Given the description of an element on the screen output the (x, y) to click on. 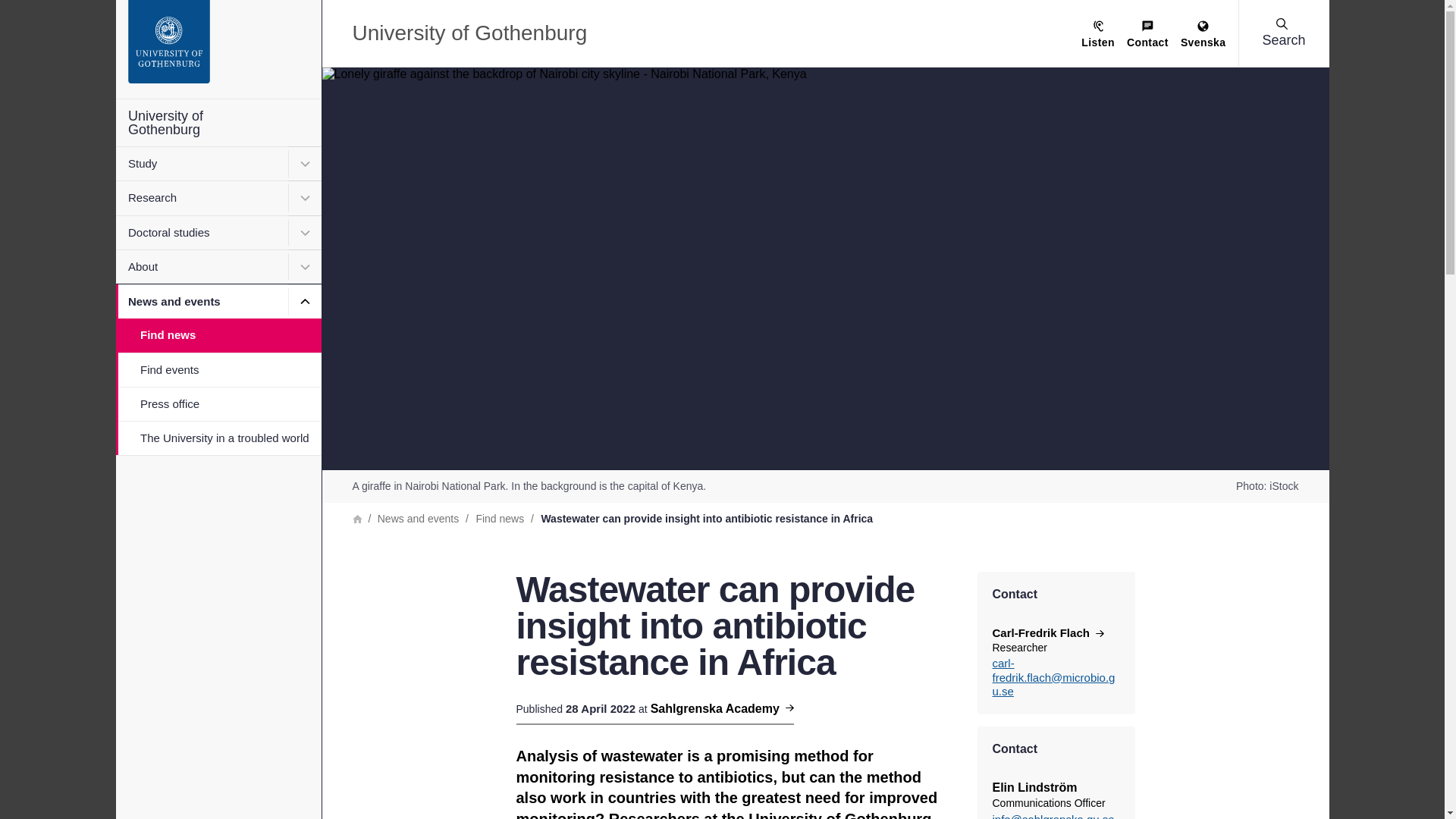
University of Gothenburg (217, 122)
Search function (105, 11)
Submenu for Study (304, 163)
Listen with ReadSpeaker (1098, 35)
Study (217, 163)
